Given the description of an element on the screen output the (x, y) to click on. 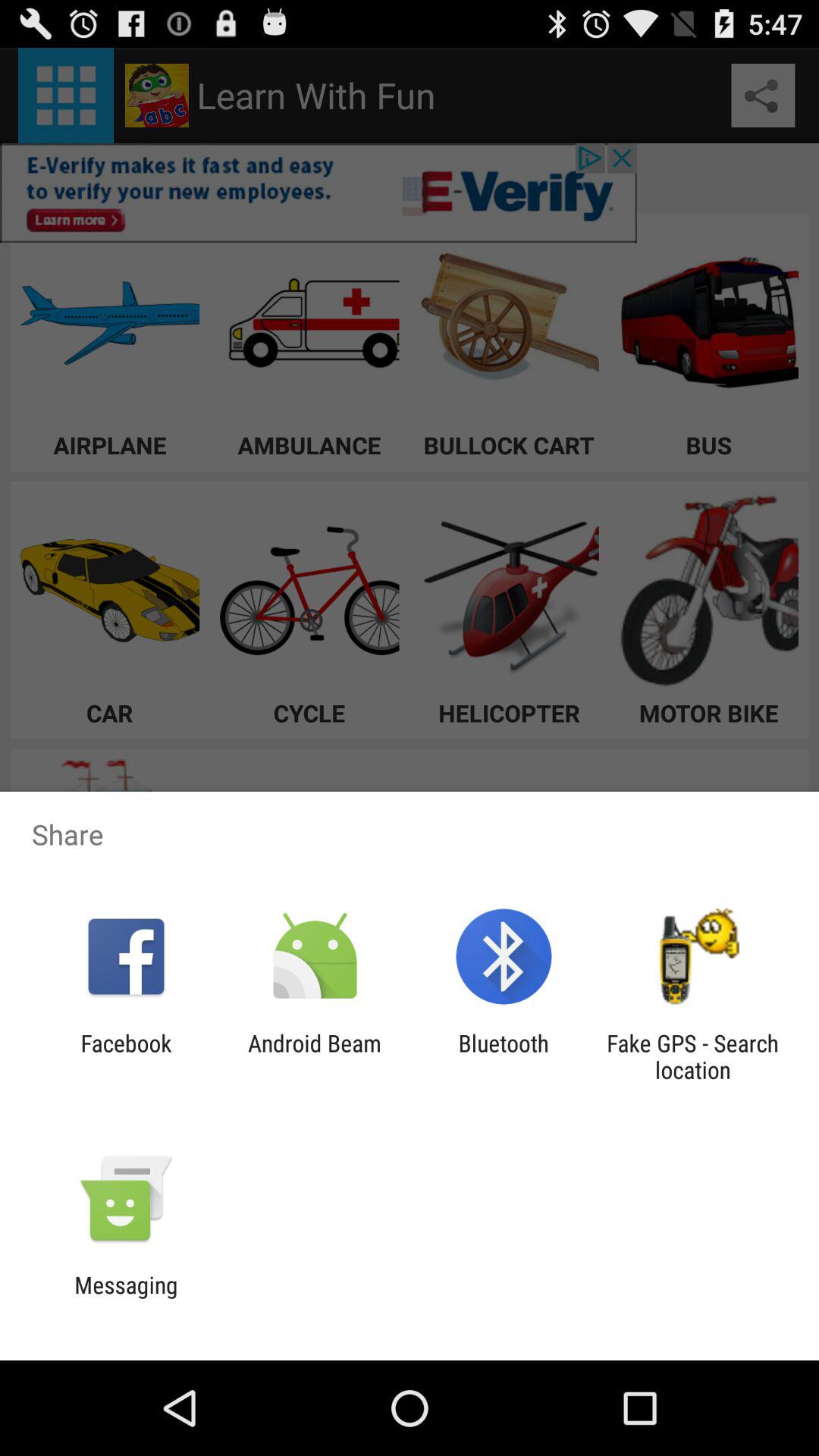
turn off the icon to the right of facebook item (314, 1056)
